Given the description of an element on the screen output the (x, y) to click on. 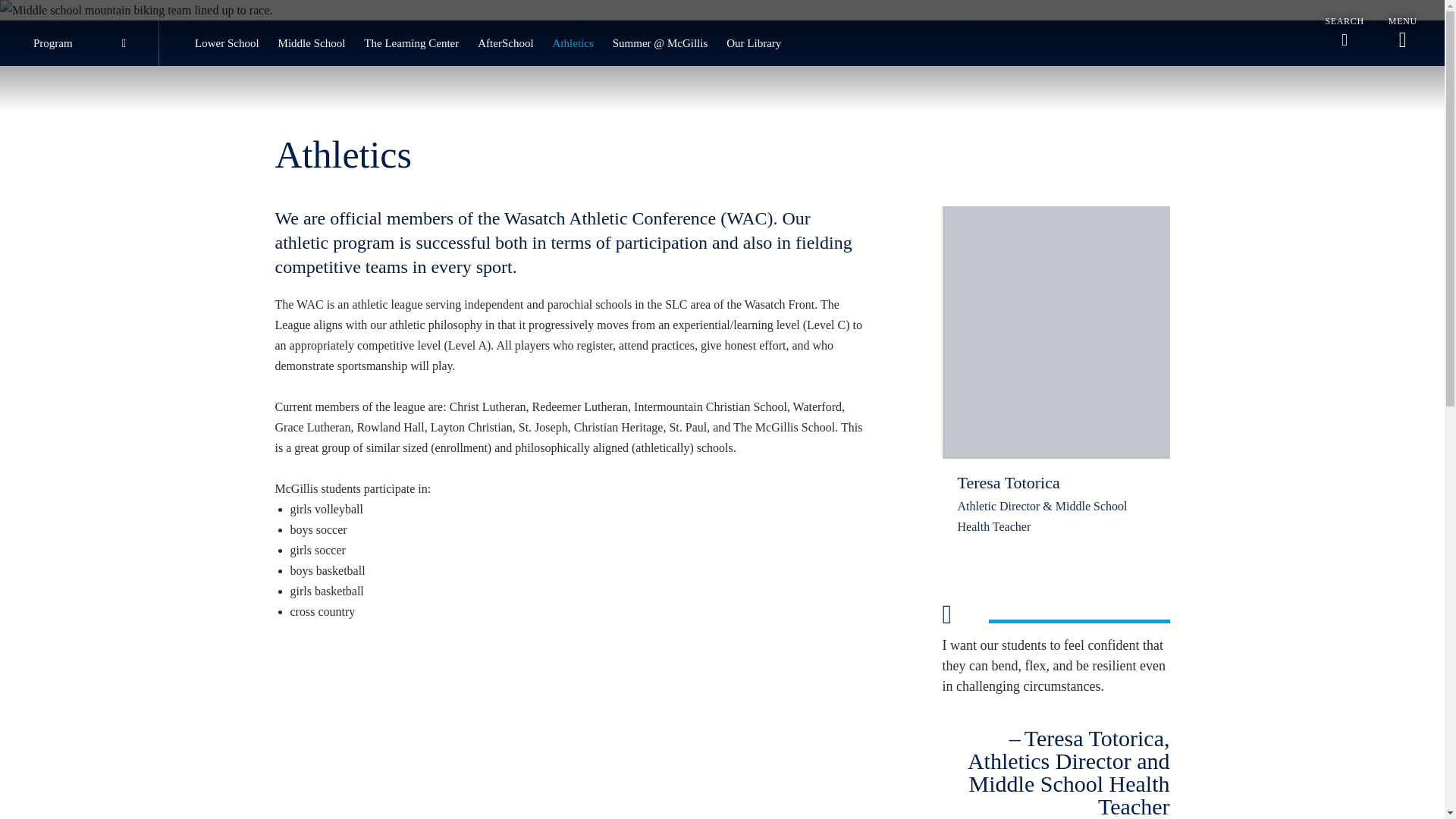
Teresa Totorica (1055, 332)
SEARCH (1343, 32)
